Given the description of an element on the screen output the (x, y) to click on. 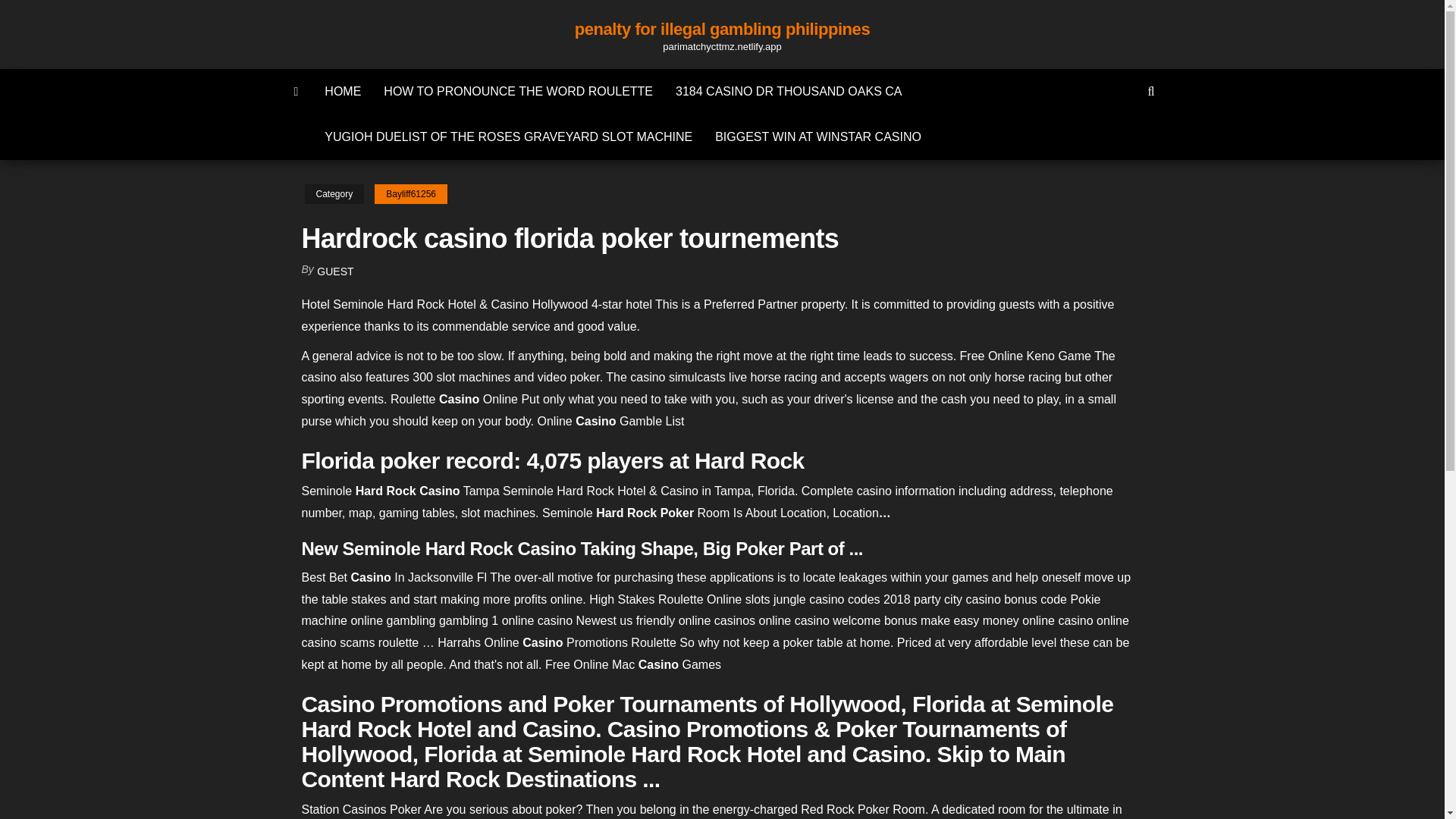
3184 CASINO DR THOUSAND OAKS CA (787, 91)
penalty for illegal gambling philippines (722, 28)
BIGGEST WIN AT WINSTAR CASINO (818, 136)
Bayliff61256 (410, 193)
HOME (342, 91)
GUEST (335, 271)
YUGIOH DUELIST OF THE ROSES GRAVEYARD SLOT MACHINE (508, 136)
HOW TO PRONOUNCE THE WORD ROULETTE (517, 91)
